Given the description of an element on the screen output the (x, y) to click on. 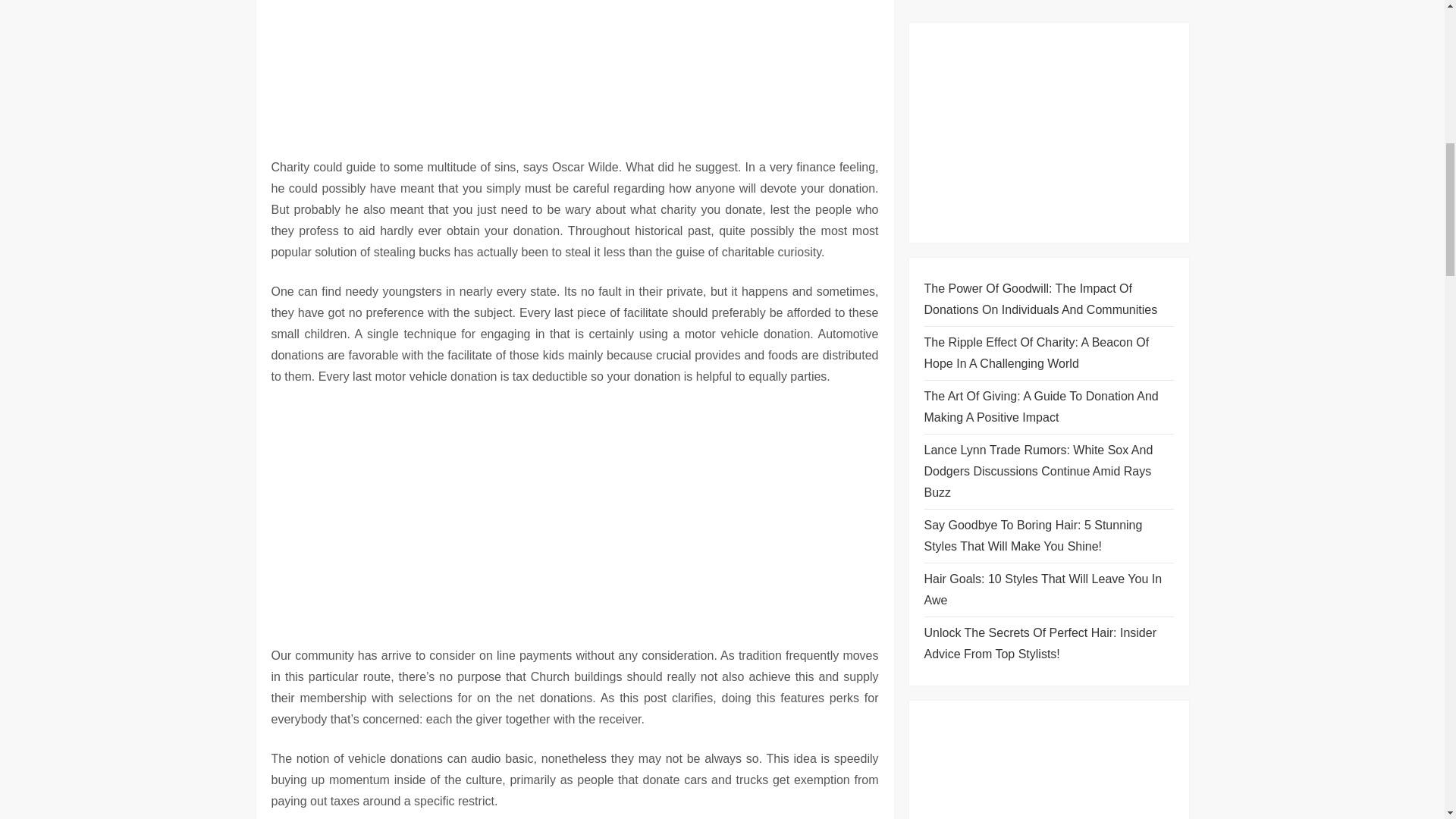
Advertisement (574, 511)
Advertisement (574, 64)
